Given the description of an element on the screen output the (x, y) to click on. 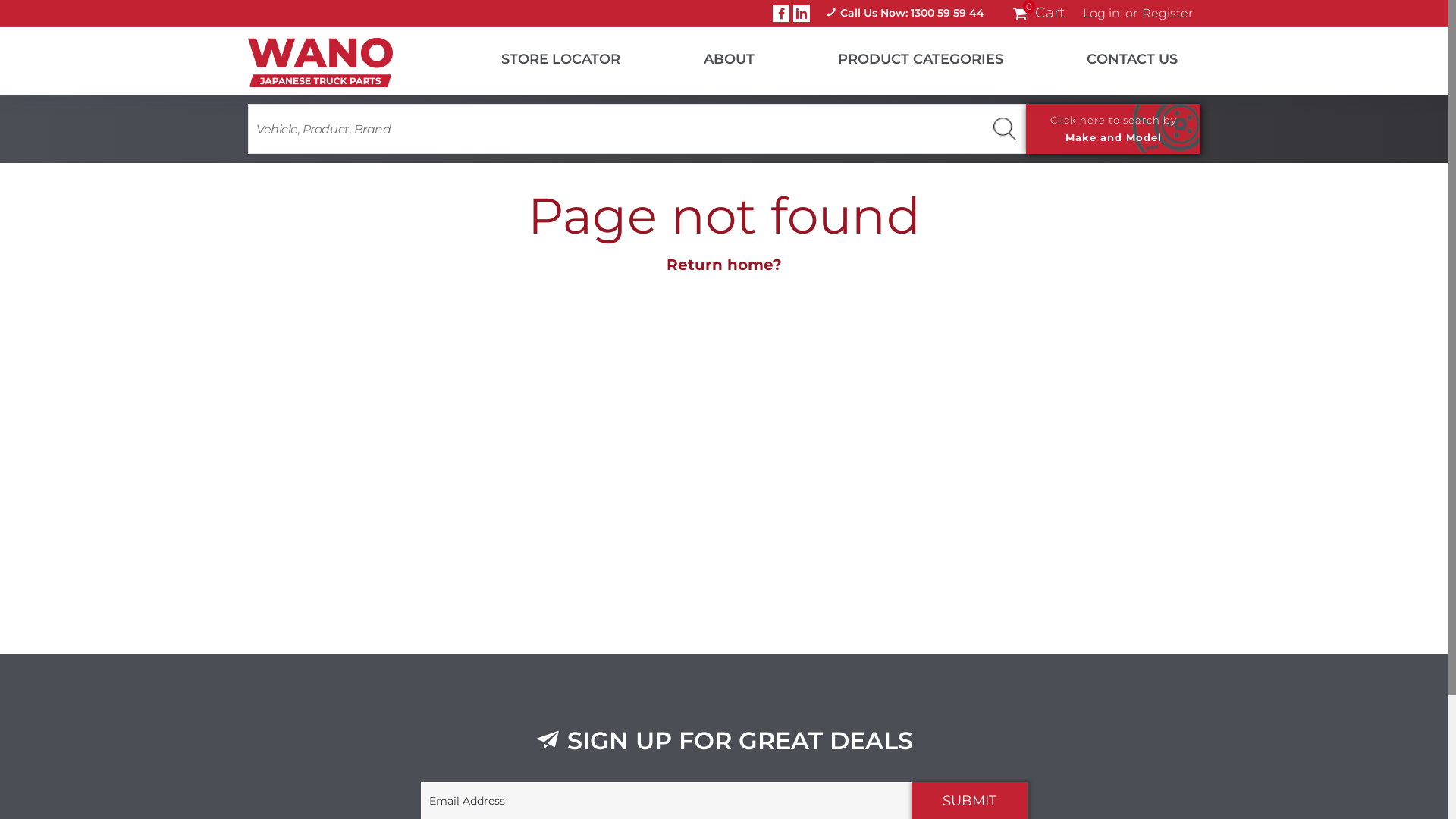
Log in Element type: text (1101, 13)
ABOUT Element type: text (710, 55)
Register Element type: text (1167, 13)
LinkedIn Element type: hover (801, 12)
CONTACT US Element type: text (1113, 55)
PRODUCT CATEGORIES Element type: text (901, 55)
Click here to search by
Make and Model Element type: text (1113, 128)
Return home? Element type: text (723, 264)
Call Us Now: 1300 59 59 44 Element type: text (904, 13)
STORE LOCATOR Element type: text (541, 55)
Facebook Element type: hover (780, 12)
